Given the description of an element on the screen output the (x, y) to click on. 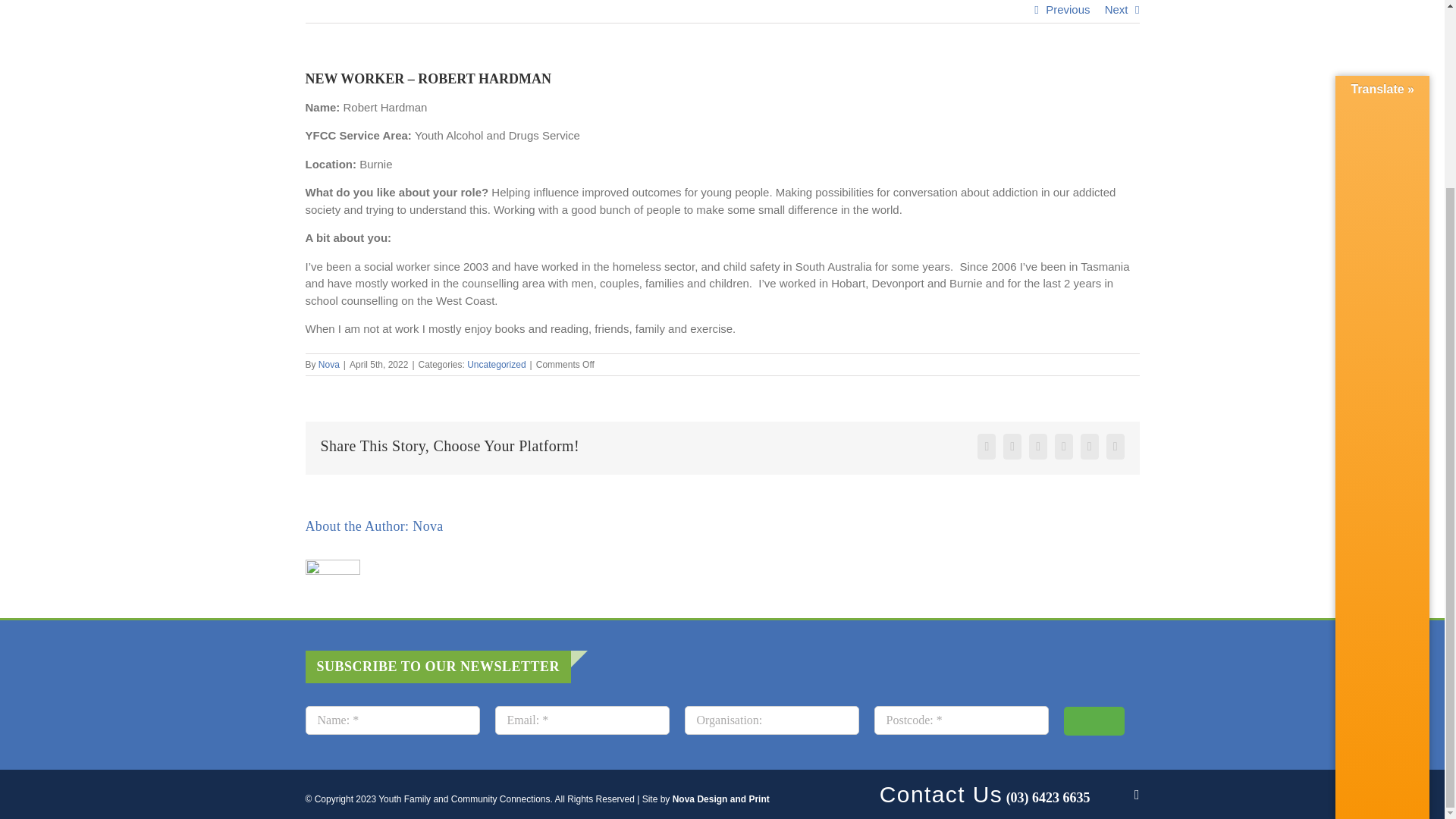
Posts by Nova (328, 364)
Organisation: (771, 719)
Name: (391, 719)
Posts by Nova (427, 525)
Subscribe (1093, 720)
Postcode: (960, 719)
Email: (581, 719)
Previous (1067, 11)
